Given the description of an element on the screen output the (x, y) to click on. 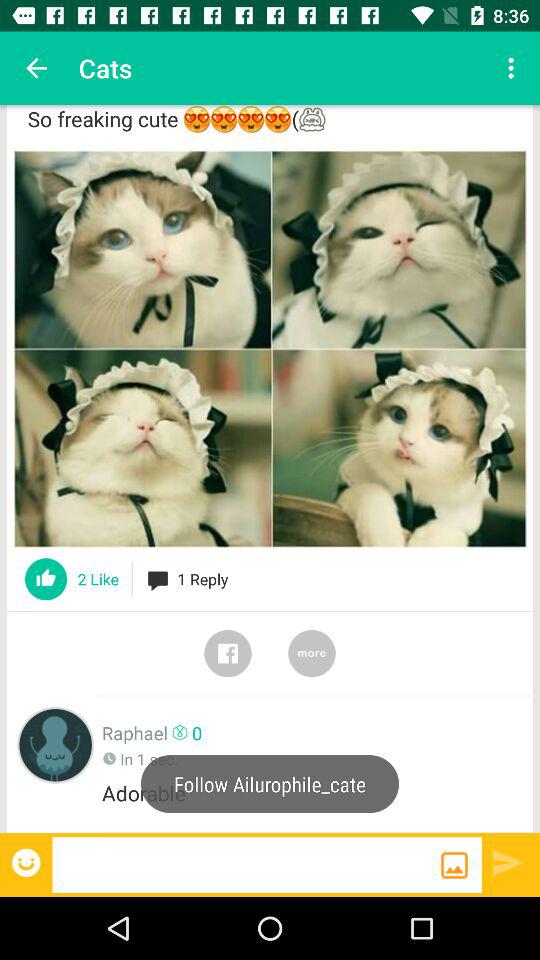
like the image (46, 579)
